Given the description of an element on the screen output the (x, y) to click on. 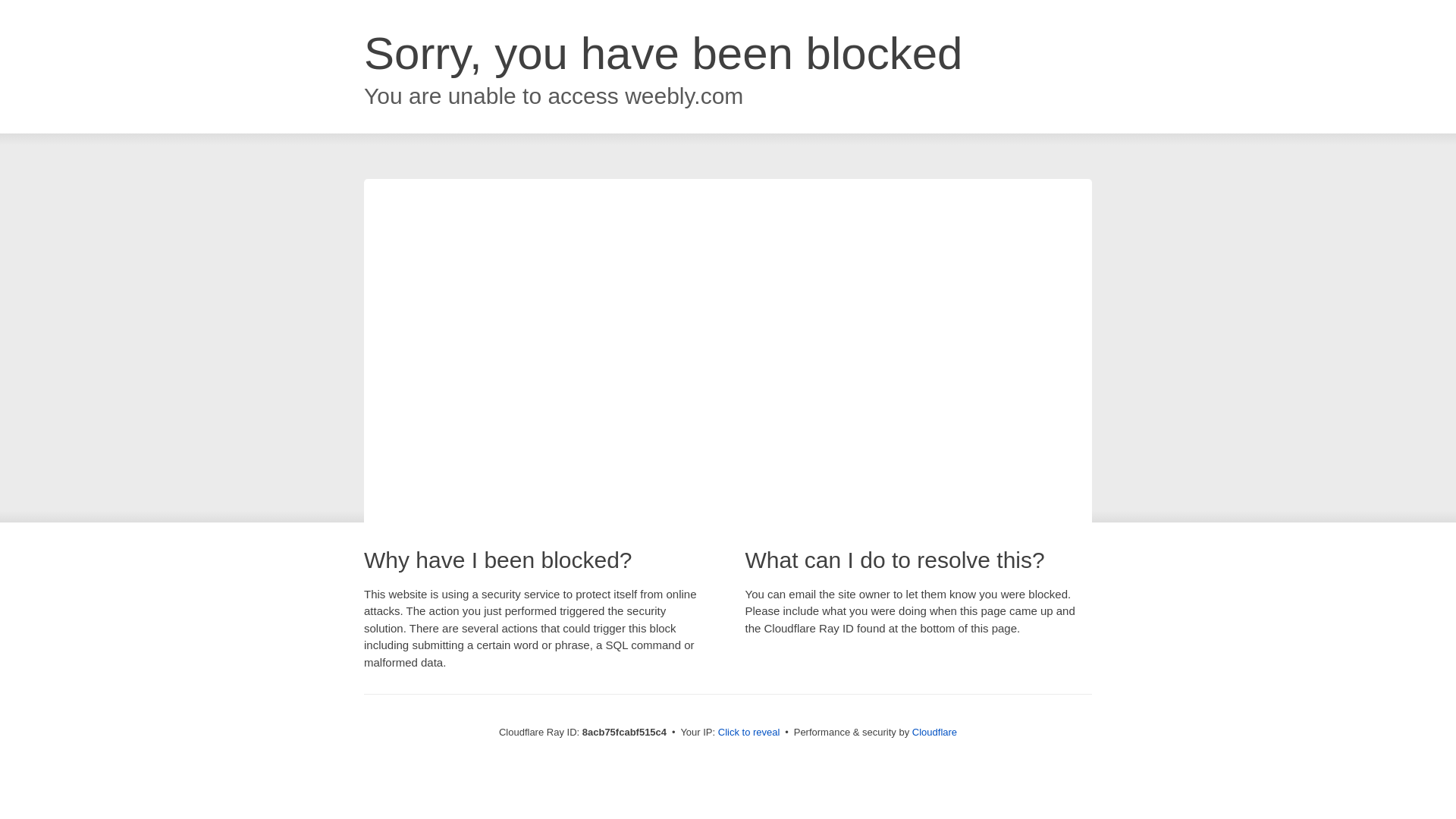
Cloudflare (934, 731)
Click to reveal (748, 732)
